Given the description of an element on the screen output the (x, y) to click on. 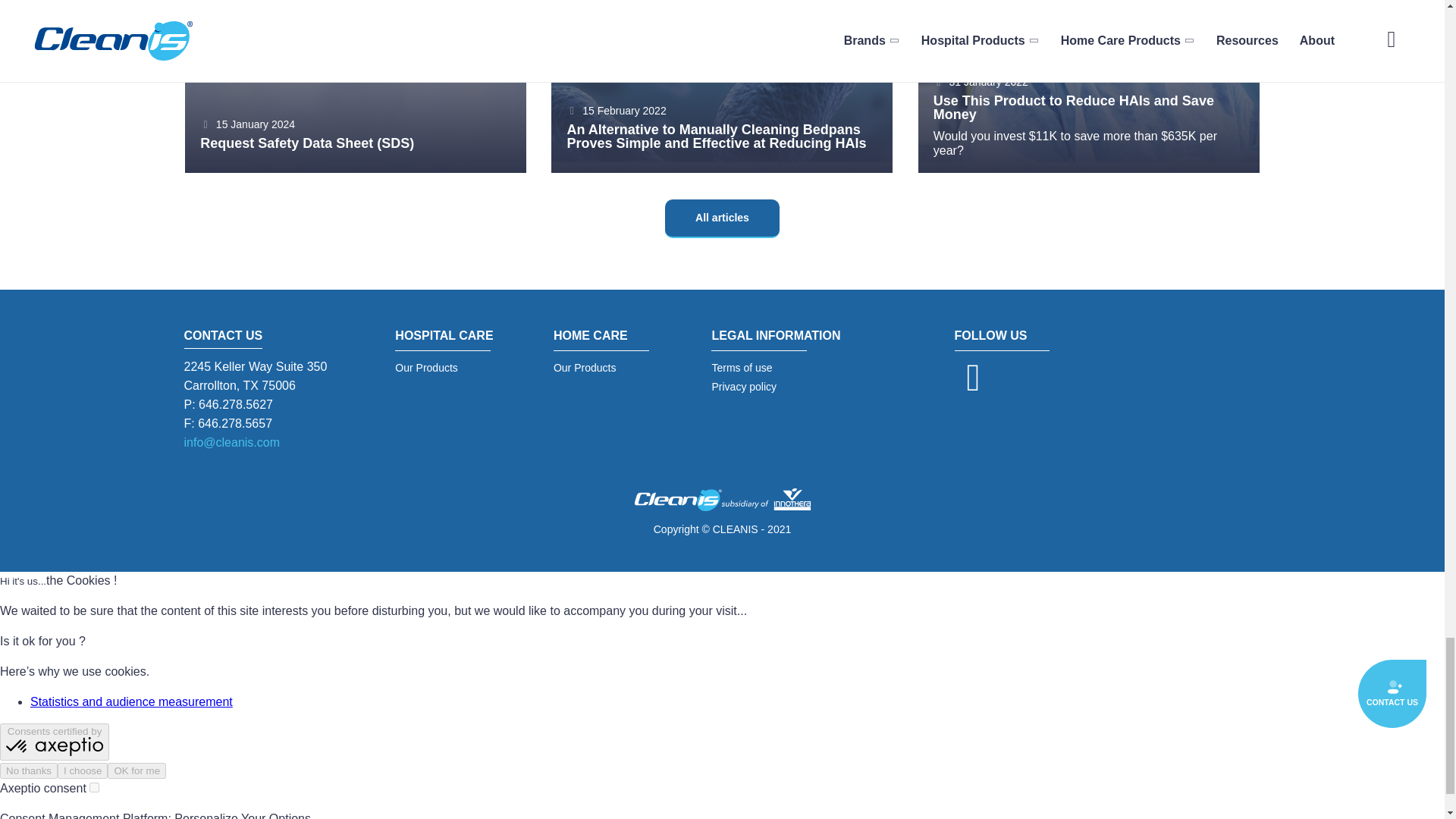
Privacy policy (775, 386)
LEGAL INFORMATION (775, 338)
Terms of use (775, 367)
HOME CARE (609, 338)
All articles (721, 218)
HOSPITAL CARE (451, 338)
Use This Product to Reduce HAIs and Save Money (1088, 111)
Our Products (451, 367)
Our Products (609, 367)
